Given the description of an element on the screen output the (x, y) to click on. 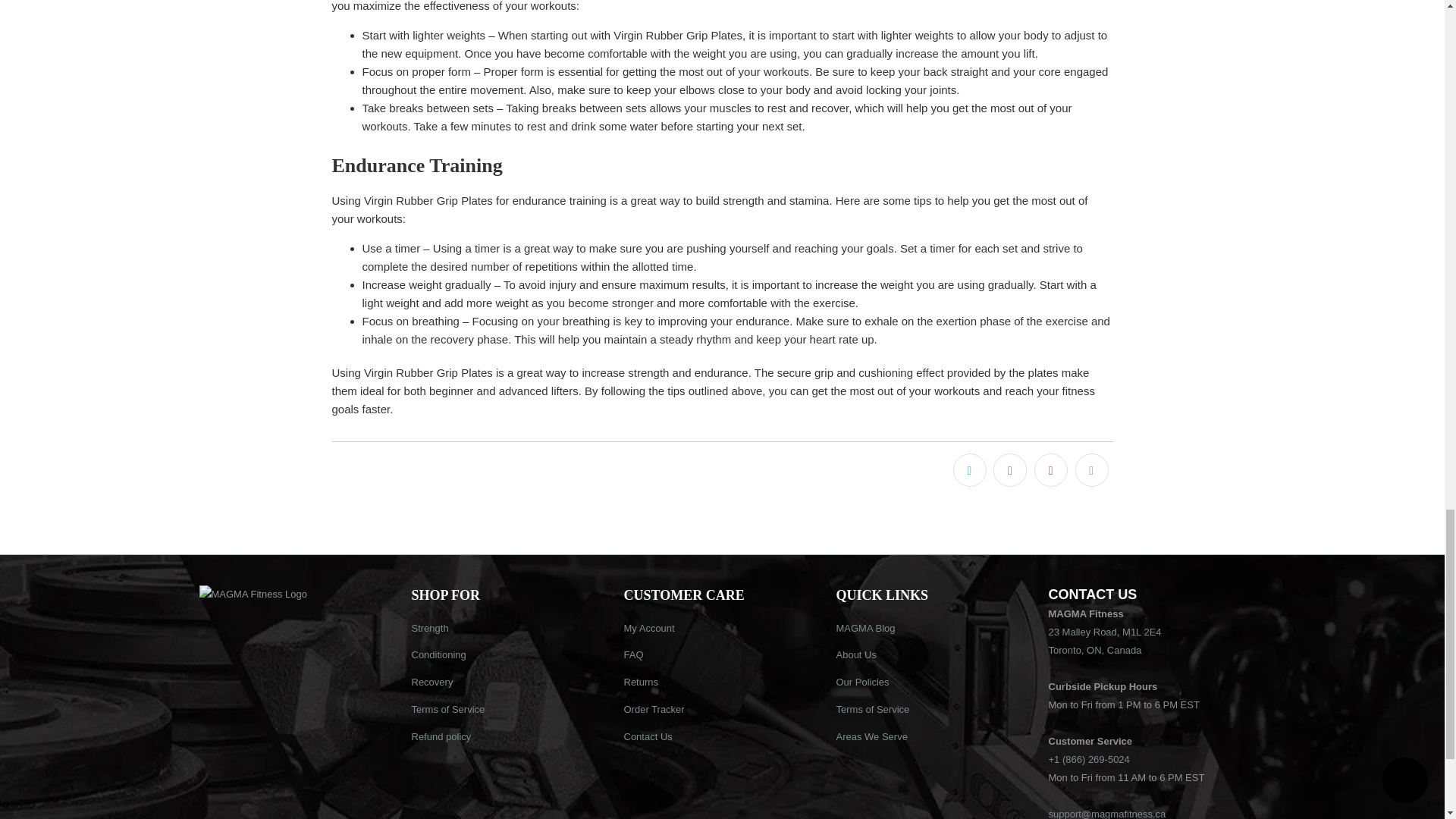
Share this on Twitter (970, 469)
Share this on Facebook (1009, 469)
Email this to a friend (1091, 469)
Share this on Pinterest (1050, 469)
